Given the description of an element on the screen output the (x, y) to click on. 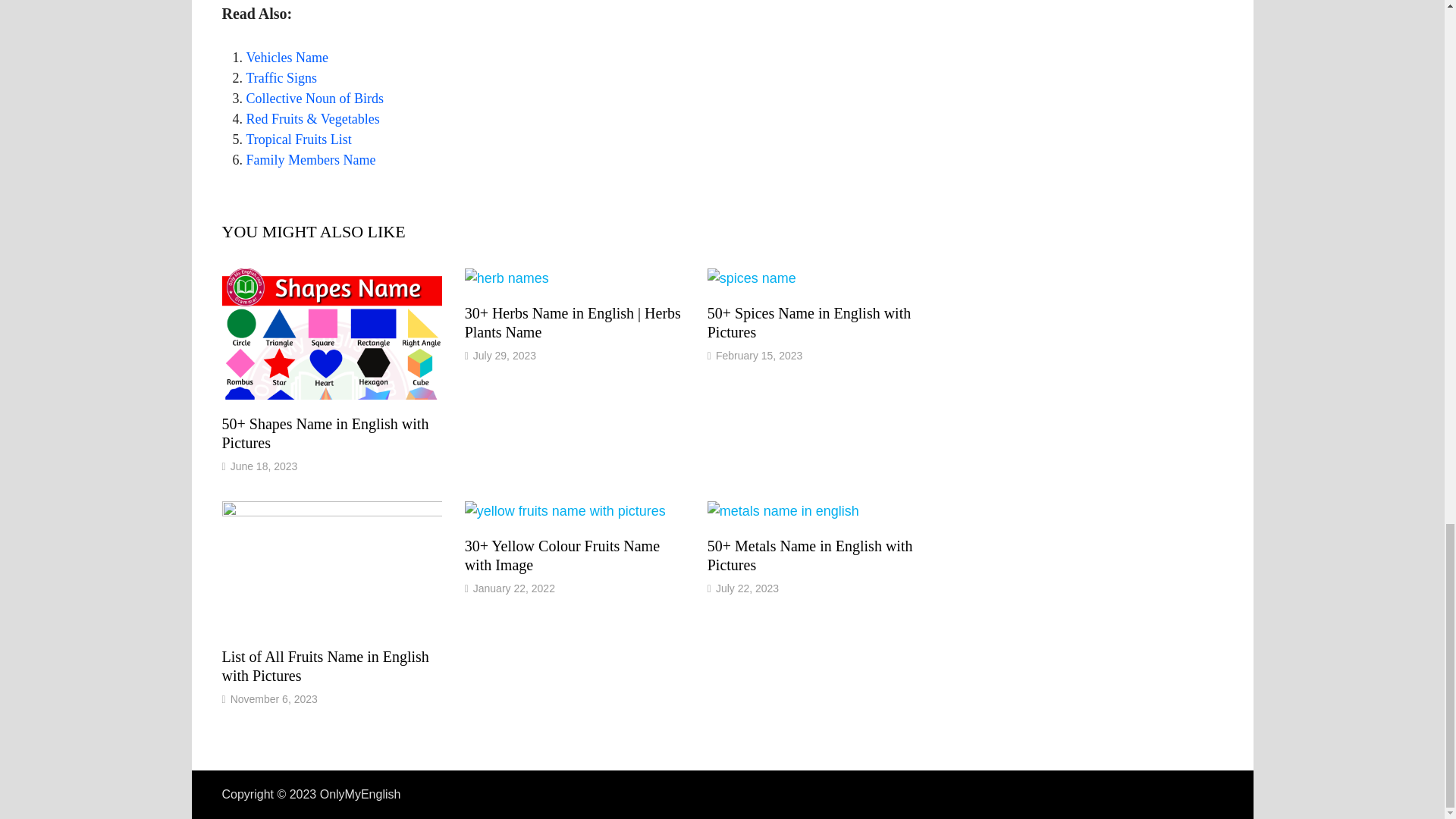
Traffic Signs (281, 77)
Collective Noun of Birds (314, 98)
Tropical Fruits List (298, 139)
List of All Fruits Name in English with Pictures (324, 665)
July 29, 2023 (504, 355)
June 18, 2023 (264, 466)
Vehicles Name (286, 57)
Family Members Name (310, 159)
